Given the description of an element on the screen output the (x, y) to click on. 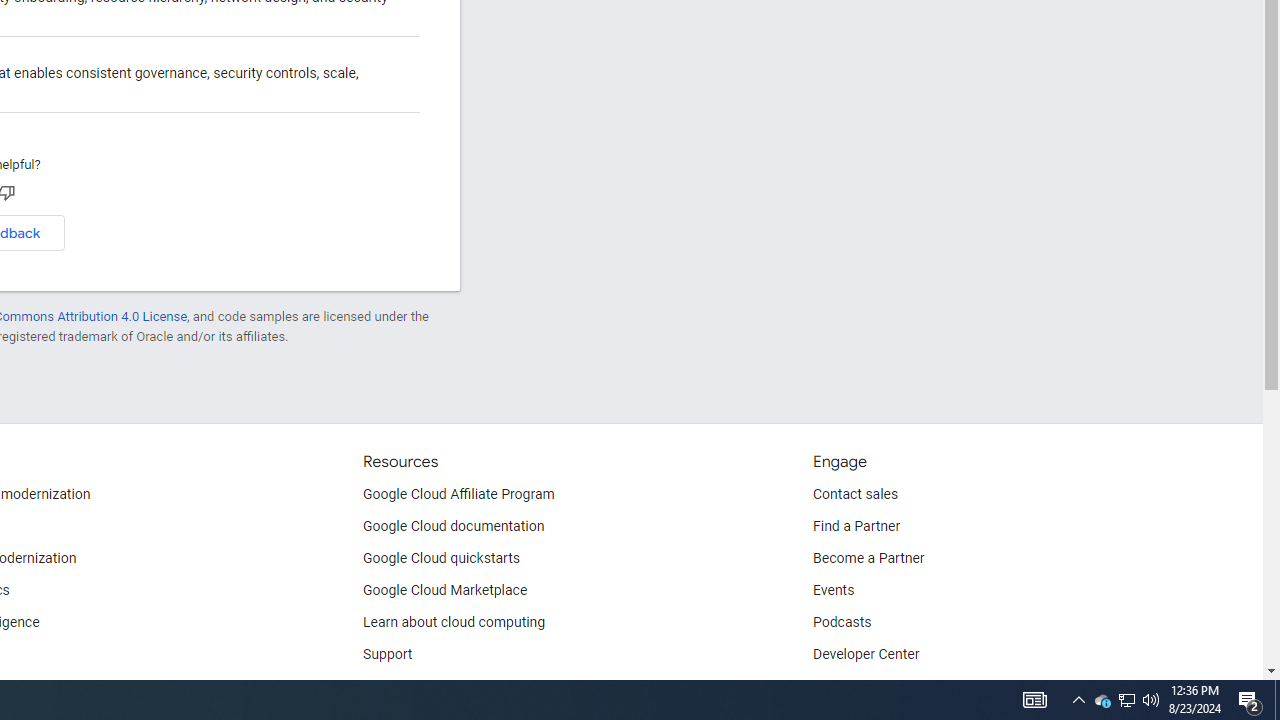
Events (833, 590)
Code samples (407, 686)
Become a Partner (868, 558)
Google Cloud quickstarts (441, 558)
Google Cloud documentation (454, 526)
Google Cloud Affiliate Program (459, 494)
Find a Partner (856, 526)
Contact sales (855, 494)
Developer Center (866, 655)
Google Cloud Marketplace (445, 590)
Learn about cloud computing (454, 622)
Press Corner (852, 686)
Podcasts (841, 622)
